Given the description of an element on the screen output the (x, y) to click on. 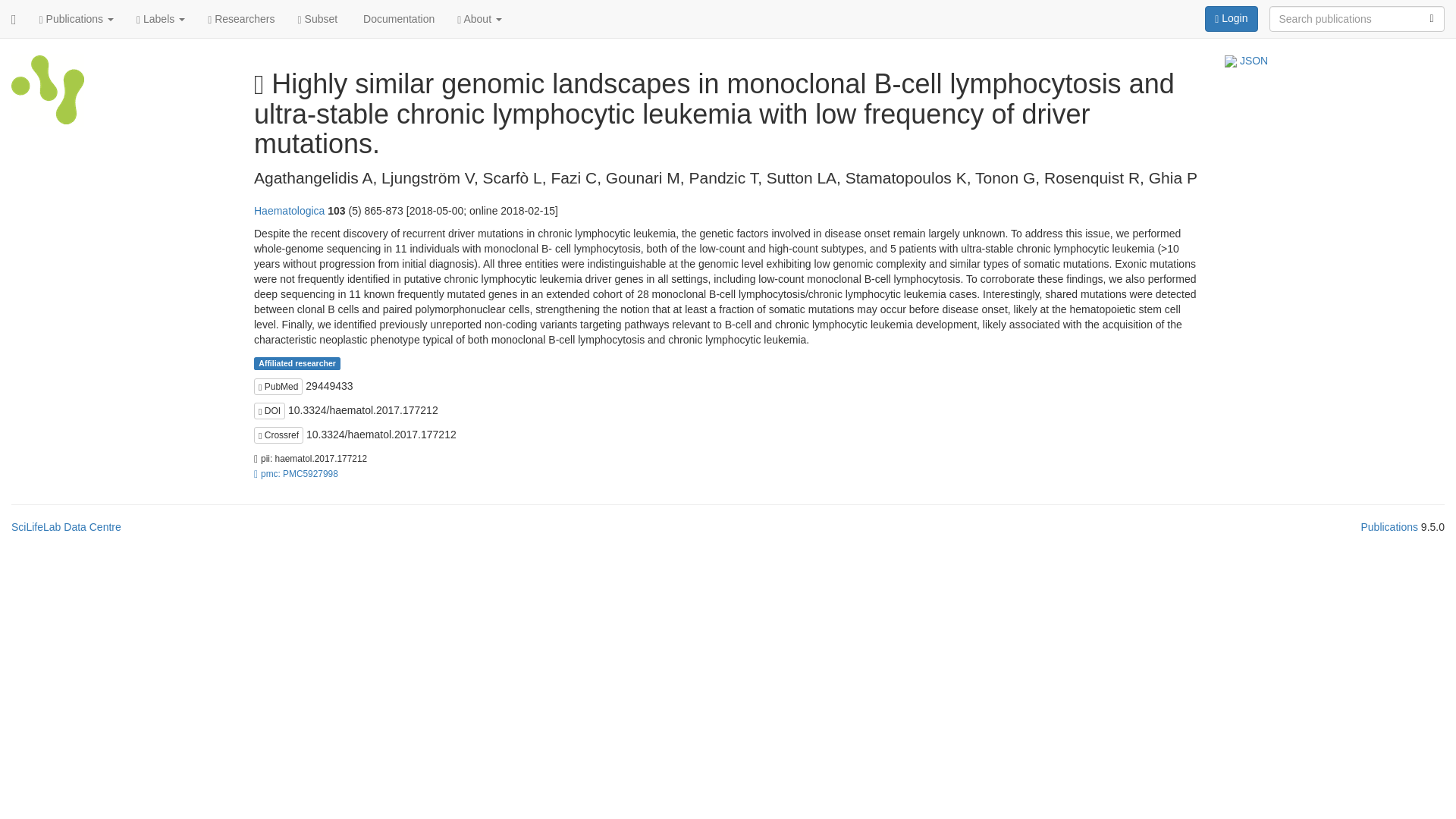
Documentation (397, 18)
Labels (160, 18)
Researchers (240, 18)
Subset (317, 18)
Login (1231, 18)
SciLifeLab Affiliated and Fellows Publications (47, 94)
About (479, 18)
Publications (76, 18)
